Given the description of an element on the screen output the (x, y) to click on. 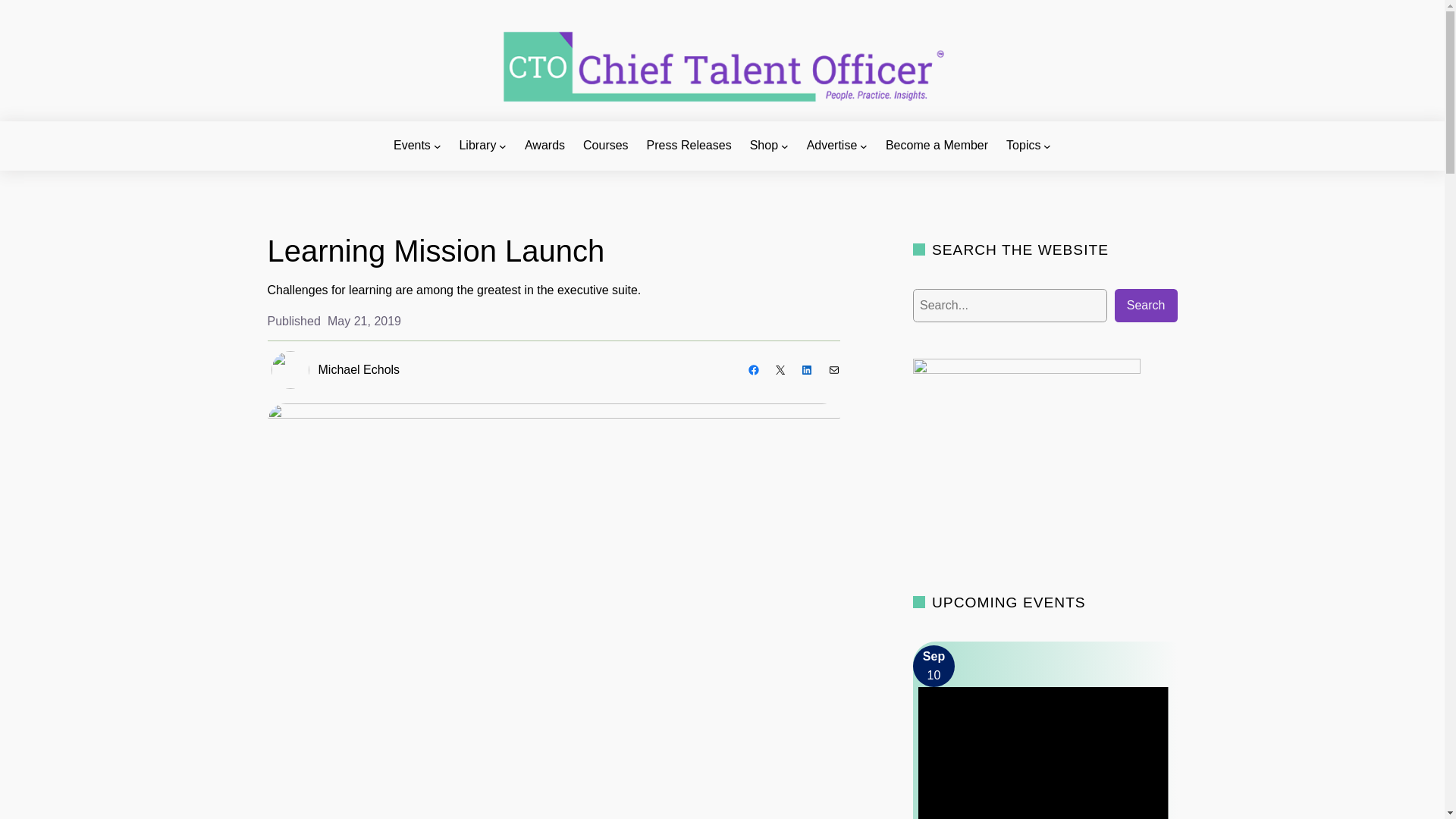
Featured (1042, 753)
Search (40, 11)
